Given the description of an element on the screen output the (x, y) to click on. 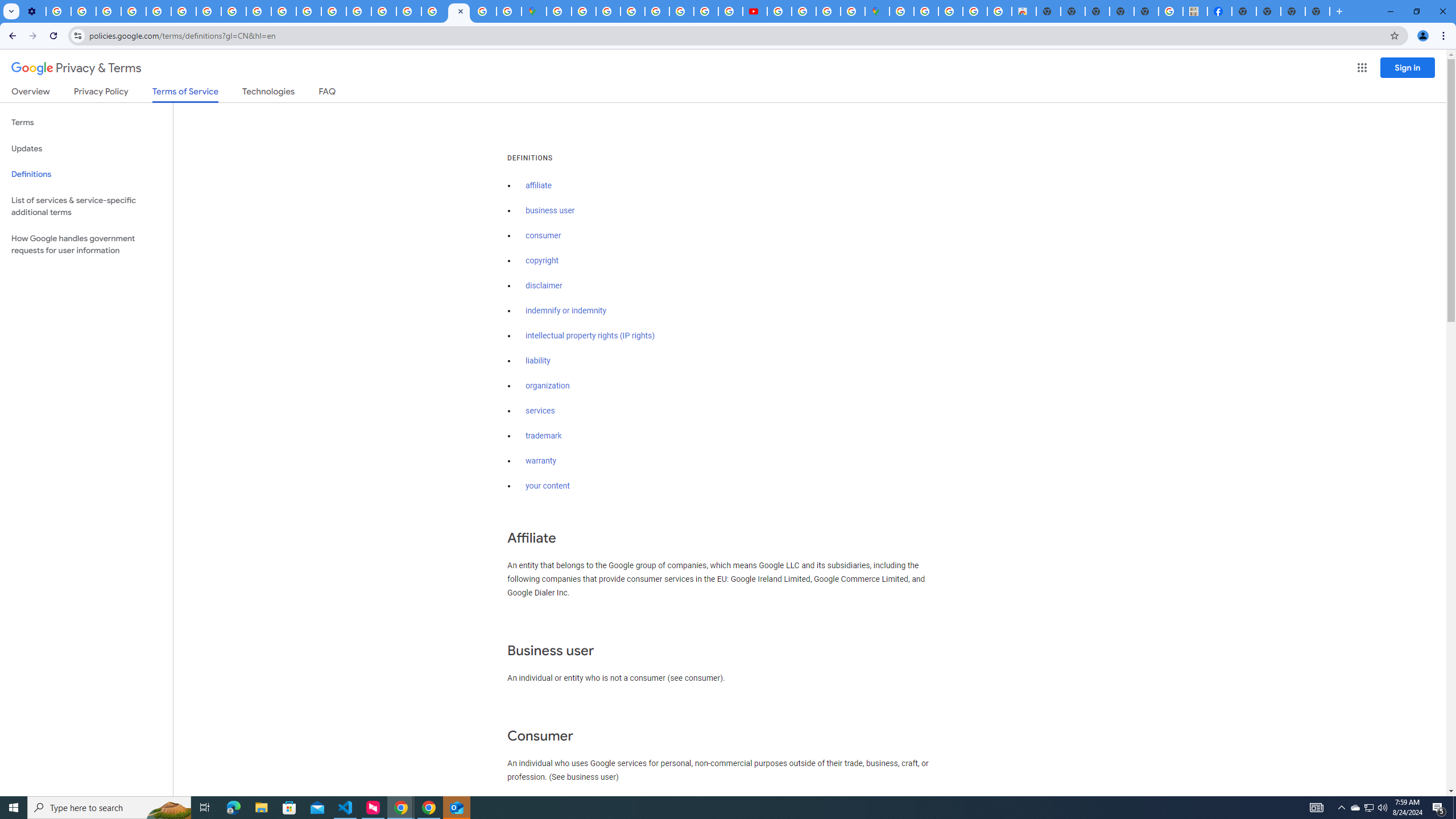
Privacy Help Center - Policies Help (705, 11)
YouTube (182, 11)
Chrome Web Store - Shopping (1023, 11)
Google Maps (533, 11)
Settings - Customize profile (33, 11)
List of services & service-specific additional terms (86, 206)
